Given the description of an element on the screen output the (x, y) to click on. 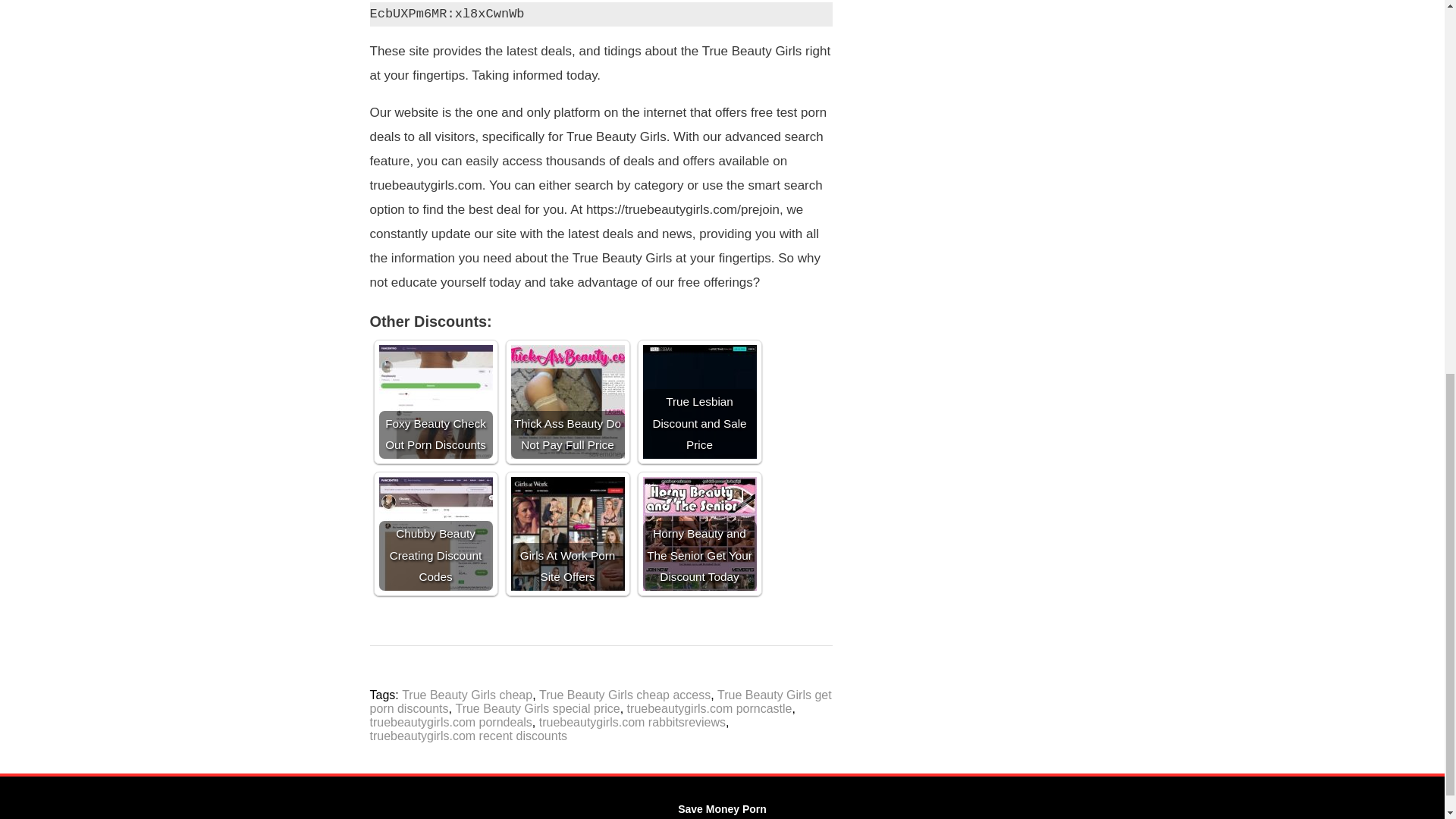
Foxy Beauty Check Out Porn Discounts (435, 401)
truebeautygirls.com porndeals (450, 721)
Chubby Beauty Creating Discount Codes (435, 533)
Thick Ass Beauty Do Not Pay Full Price (567, 401)
True Beauty Girls get porn discounts (600, 701)
Horny Beauty and The Senior Get Your Discount Today (700, 533)
Foxy Beauty Check Out Porn Discounts (435, 401)
True Lesbian Discount and Sale Price (700, 401)
Horny Beauty and The Senior Get Your Discount Today (700, 533)
True Lesbian Discount and Sale Price (700, 401)
